Given the description of an element on the screen output the (x, y) to click on. 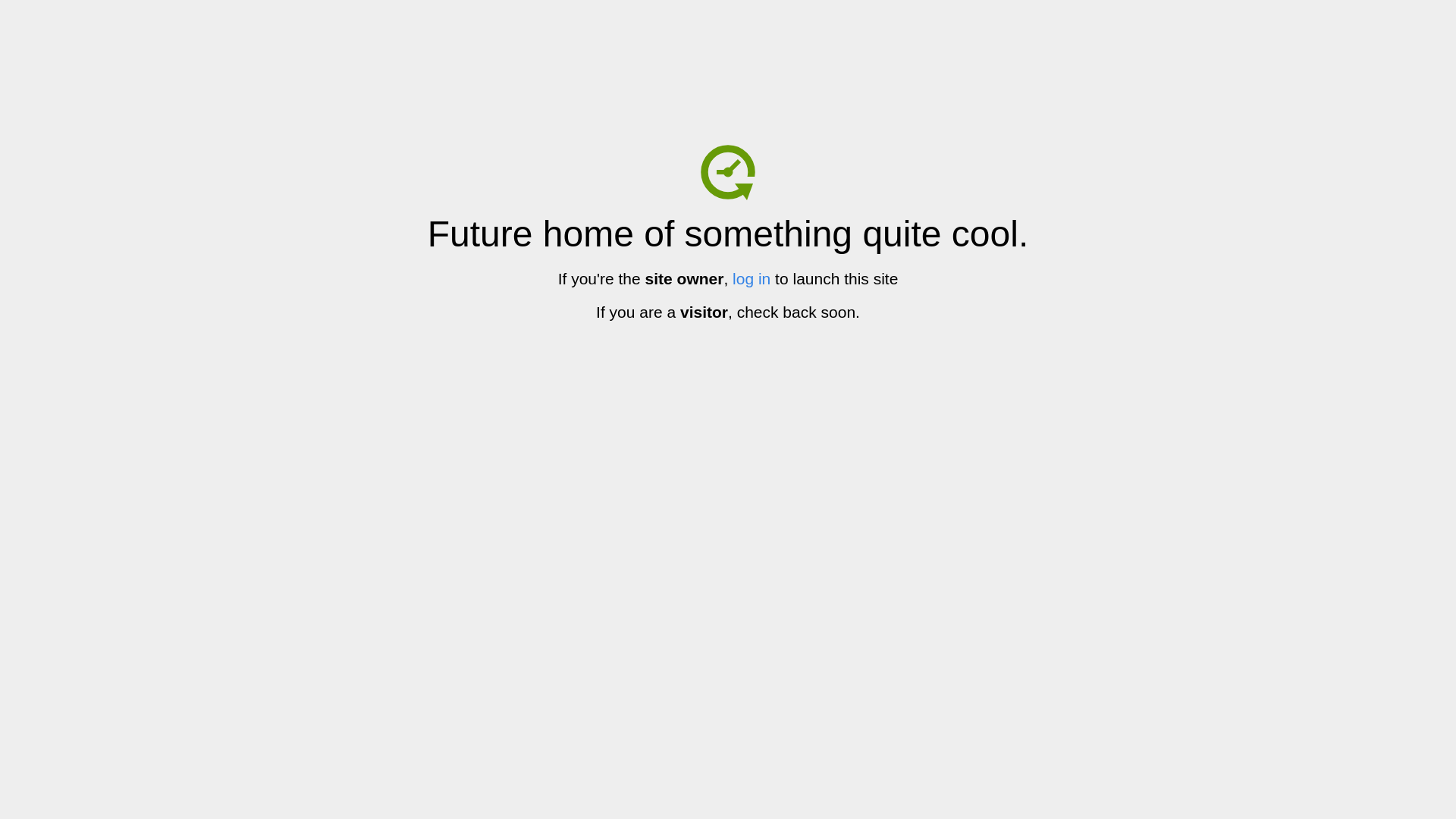
log in Element type: text (751, 278)
